Given the description of an element on the screen output the (x, y) to click on. 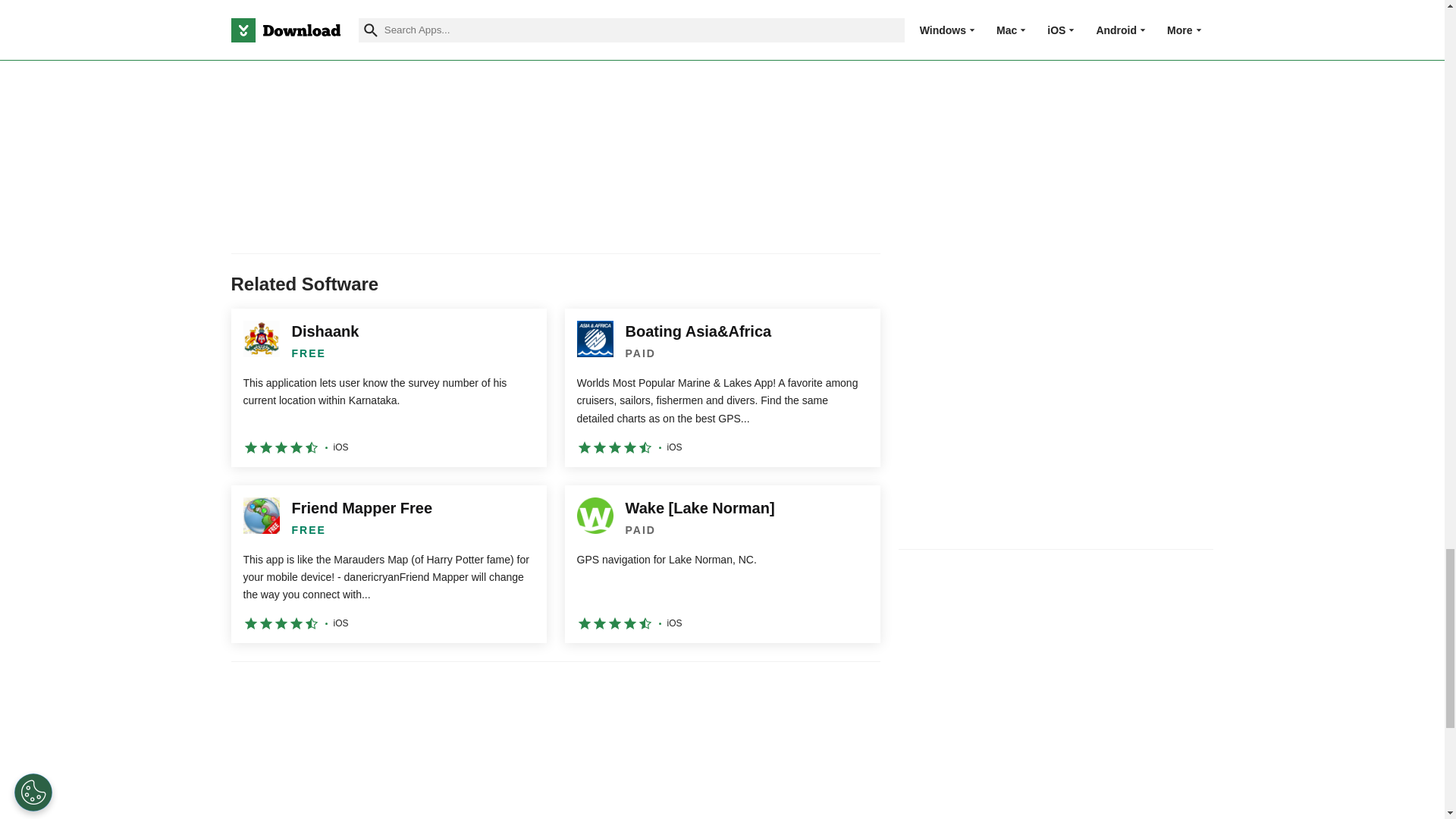
Dishaank (388, 387)
Friend Mapper Free (388, 563)
